Given the description of an element on the screen output the (x, y) to click on. 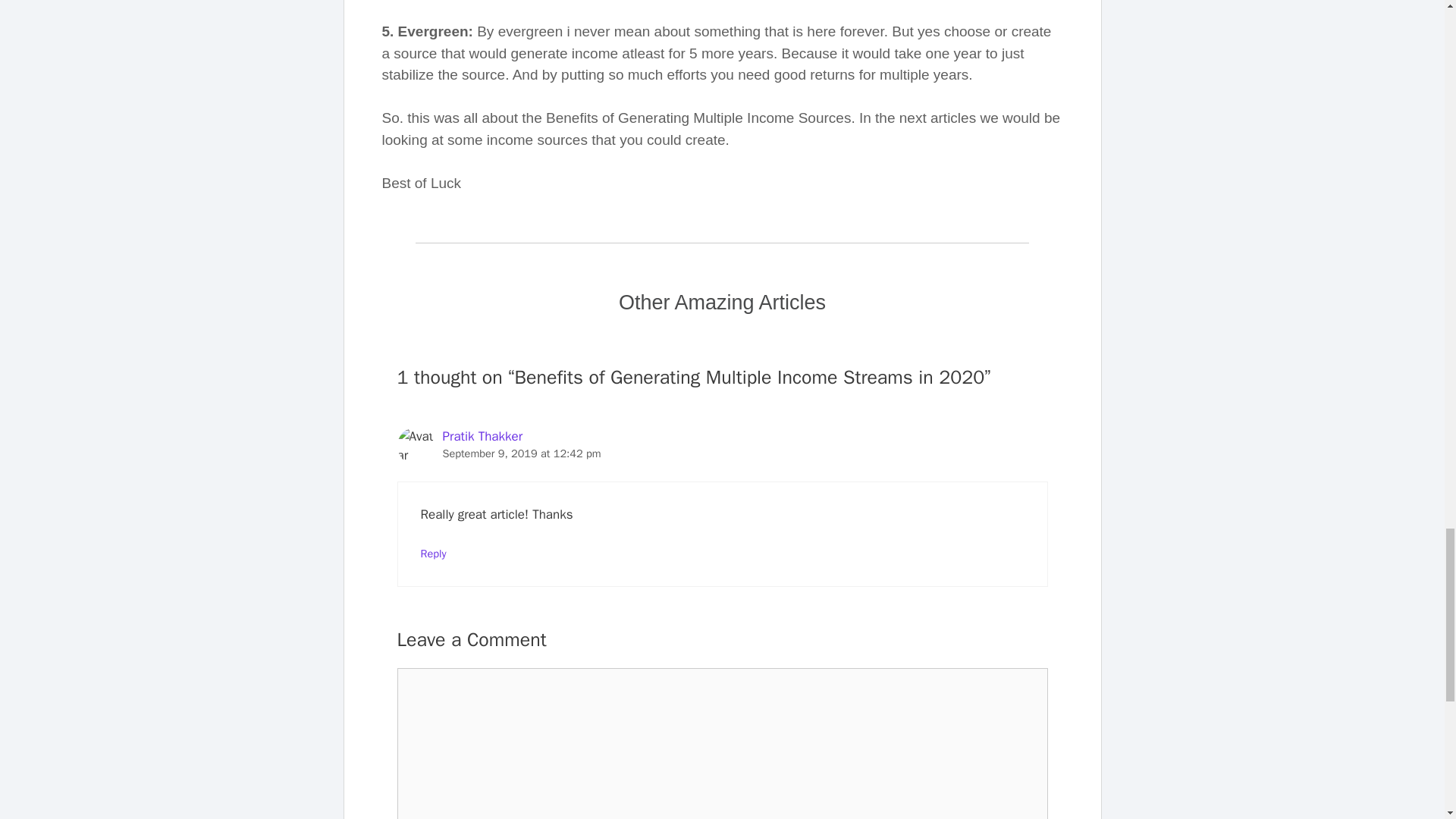
Pratik Thakker (482, 436)
Reply (432, 553)
September 9, 2019 at 12:42 pm (521, 453)
